Given the description of an element on the screen output the (x, y) to click on. 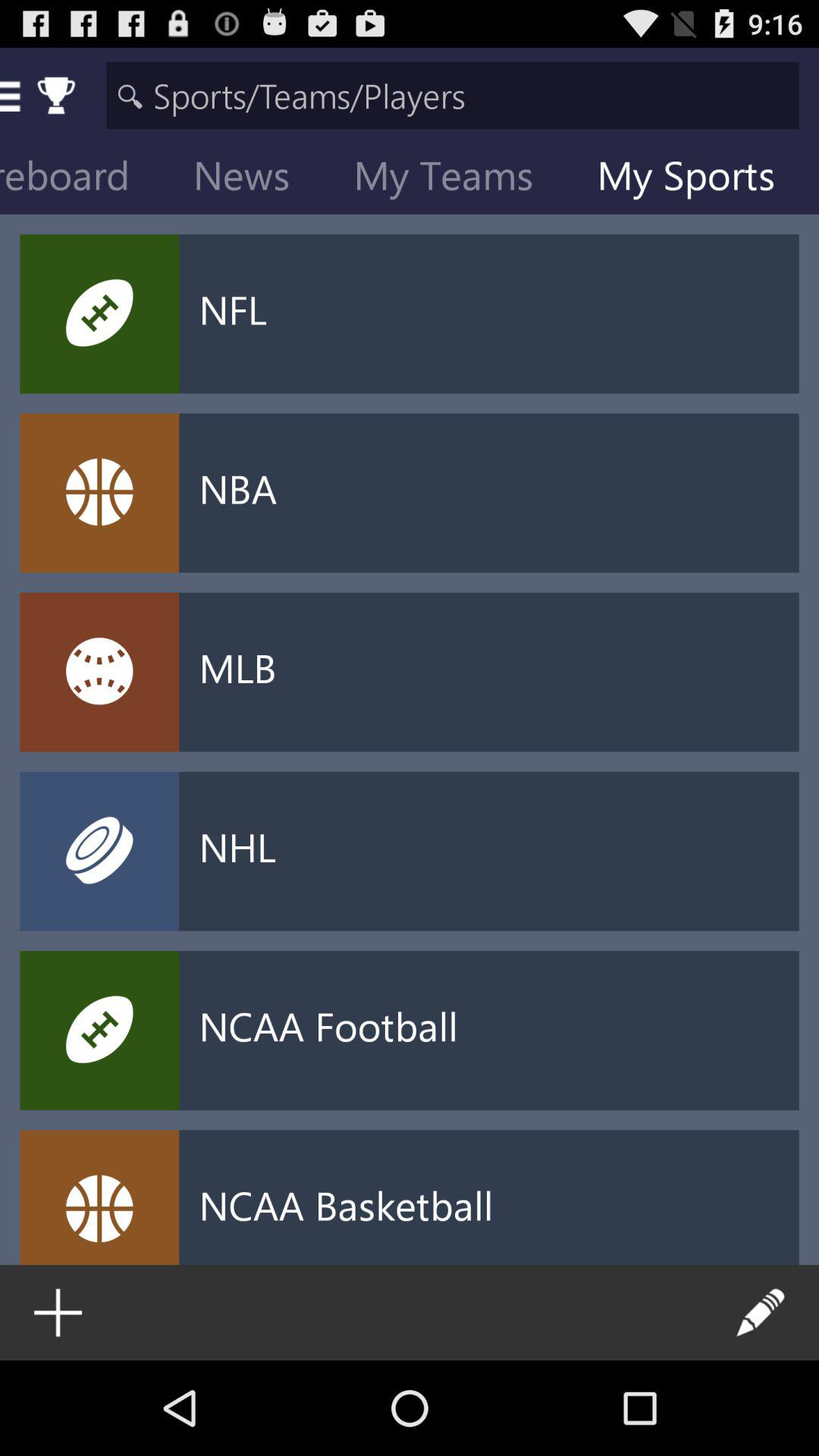
launch news item (253, 178)
